Given the description of an element on the screen output the (x, y) to click on. 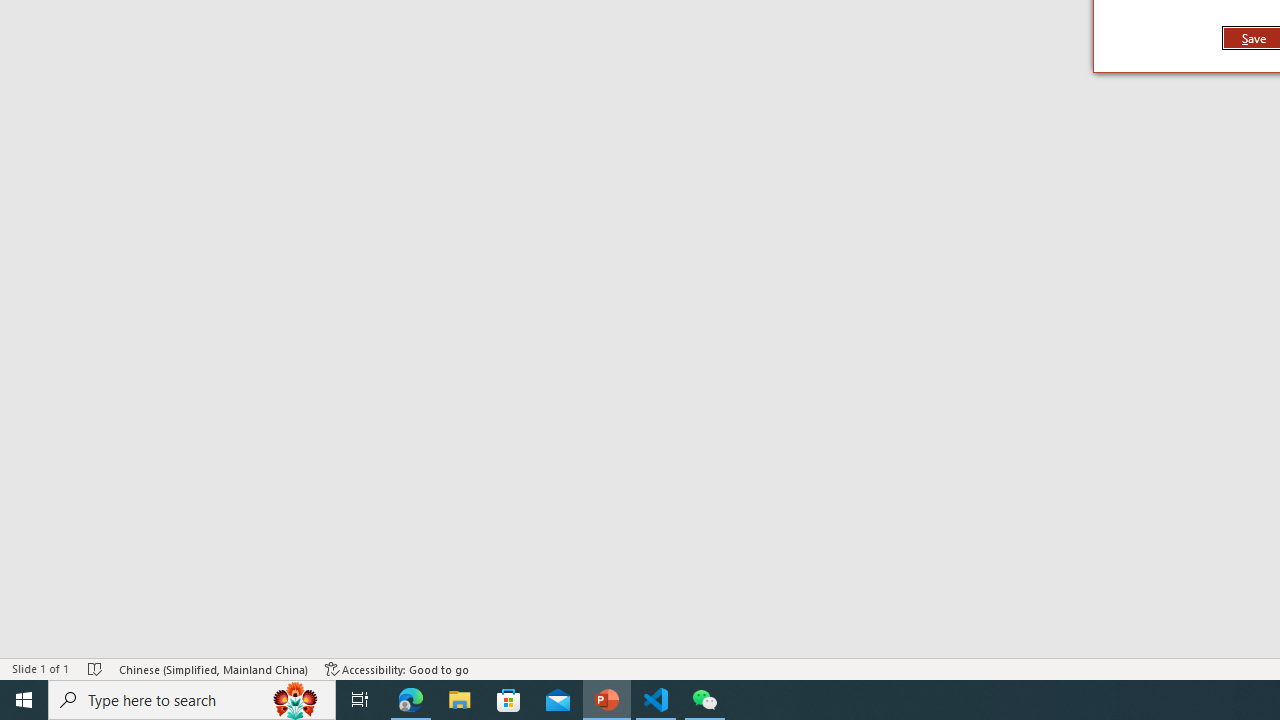
WeChat - 1 running window (704, 699)
Accessibility Checker Accessibility: Good to go (397, 668)
Microsoft Edge - 1 running window (411, 699)
